Given the description of an element on the screen output the (x, y) to click on. 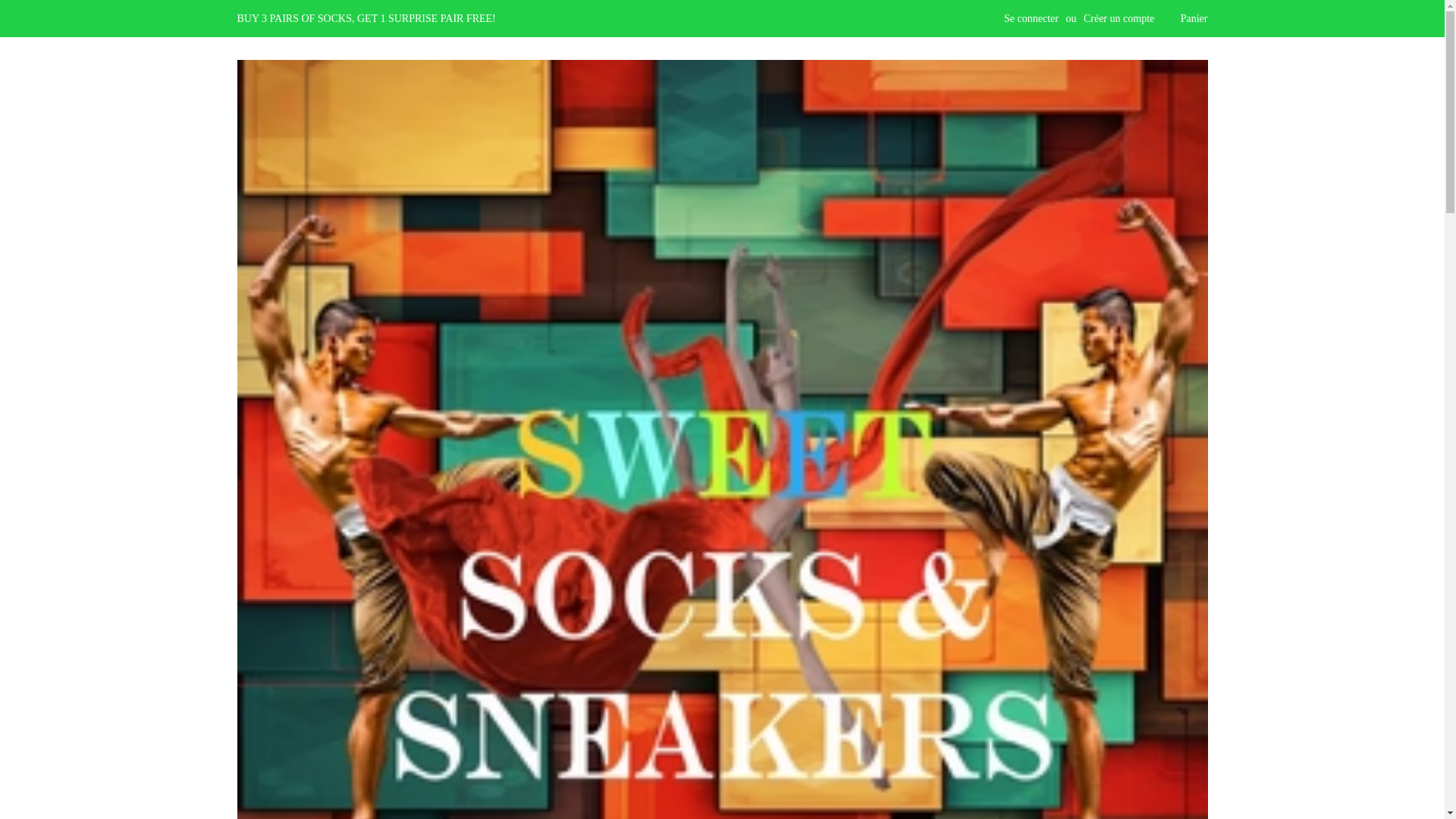
Se connecter (1031, 18)
Panier (1194, 18)
BUY 3 PAIRS OF SOCKS, GET 1 SURPRISE PAIR FREE! (365, 18)
